Given the description of an element on the screen output the (x, y) to click on. 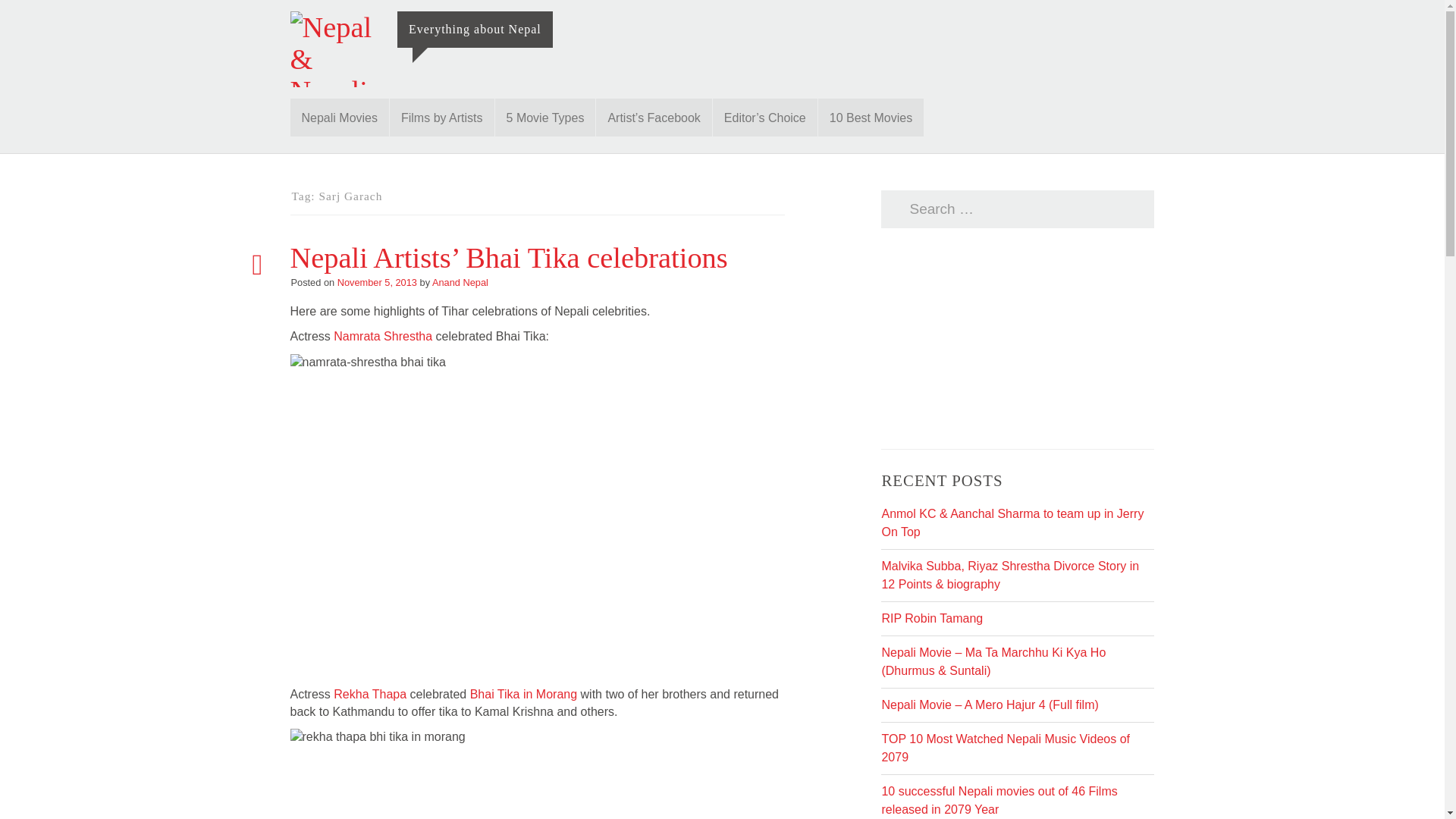
5 Movie Types (545, 117)
Nepali Movies (338, 117)
Films by Artists (442, 117)
Editor's Choice (764, 117)
10 Best Movies (870, 117)
10 Best Movies (870, 117)
Bhai Tika in Morang (523, 694)
Artist's Facebook (653, 117)
Namrata Shrestha (382, 336)
